Given the description of an element on the screen output the (x, y) to click on. 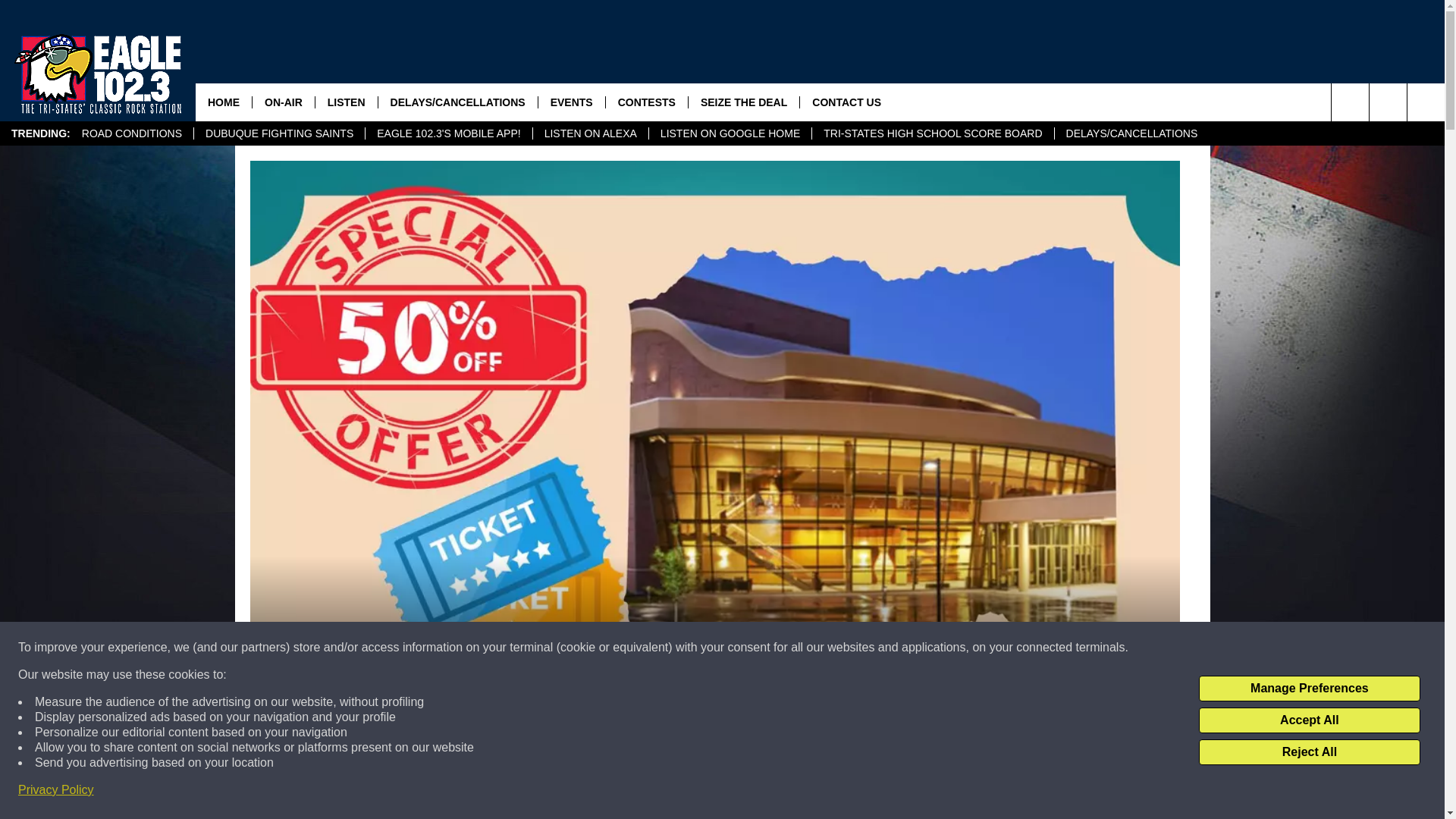
Share on Facebook (517, 791)
LISTEN ON GOOGLE HOME (728, 133)
ON-AIR (282, 102)
LISTEN ON ALEXA (589, 133)
HOME (223, 102)
Privacy Policy (55, 789)
SEIZE THE DEAL (743, 102)
Reject All (1309, 751)
CONTESTS (646, 102)
ROAD CONDITIONS (131, 133)
TRI-STATES HIGH SCHOOL SCORE BOARD (931, 133)
EVENTS (571, 102)
EAGLE 102.3'S MOBILE APP! (448, 133)
Share on Twitter (912, 791)
Accept All (1309, 720)
